Given the description of an element on the screen output the (x, y) to click on. 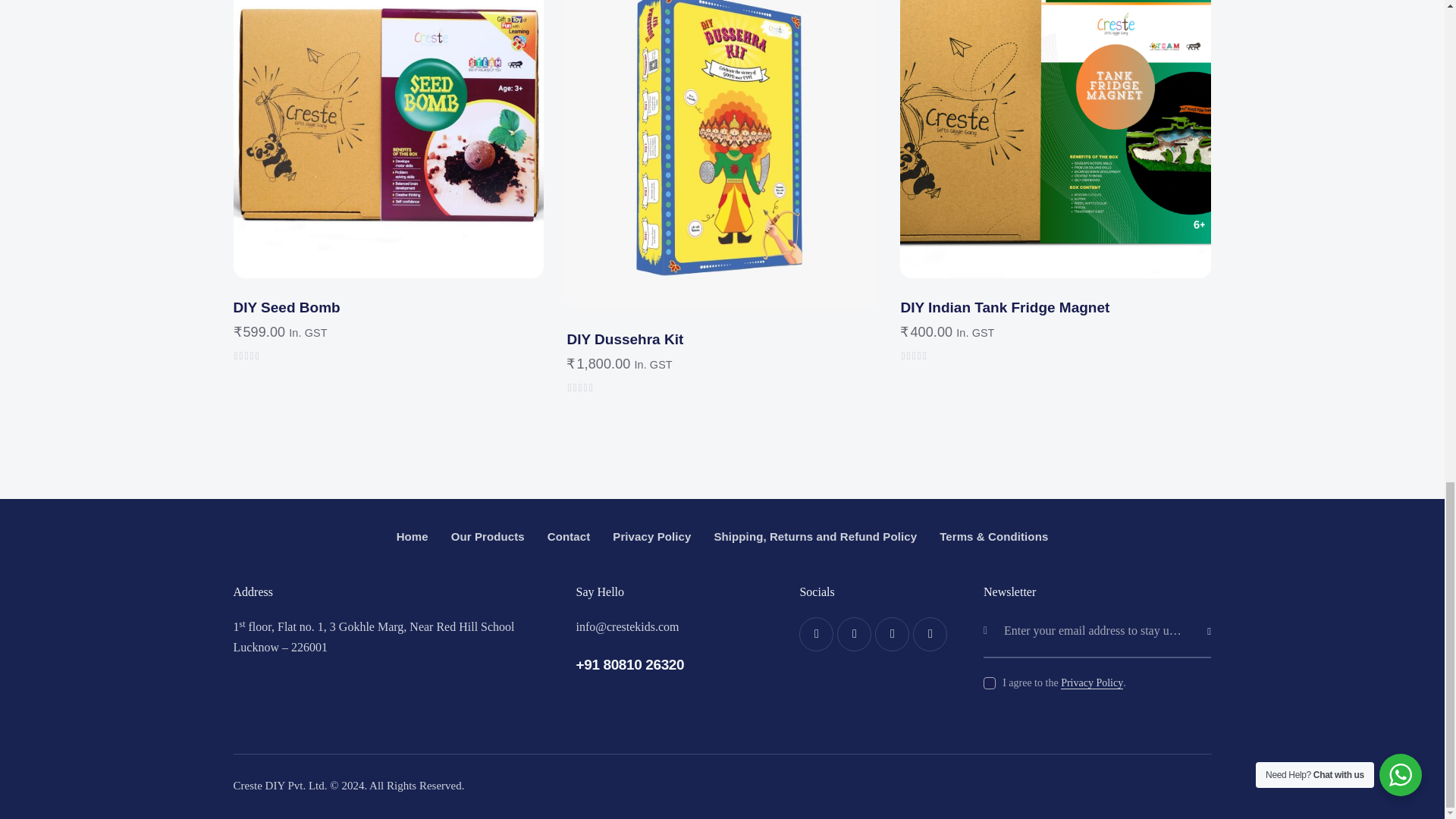
1 (1216, 610)
